Given the description of an element on the screen output the (x, y) to click on. 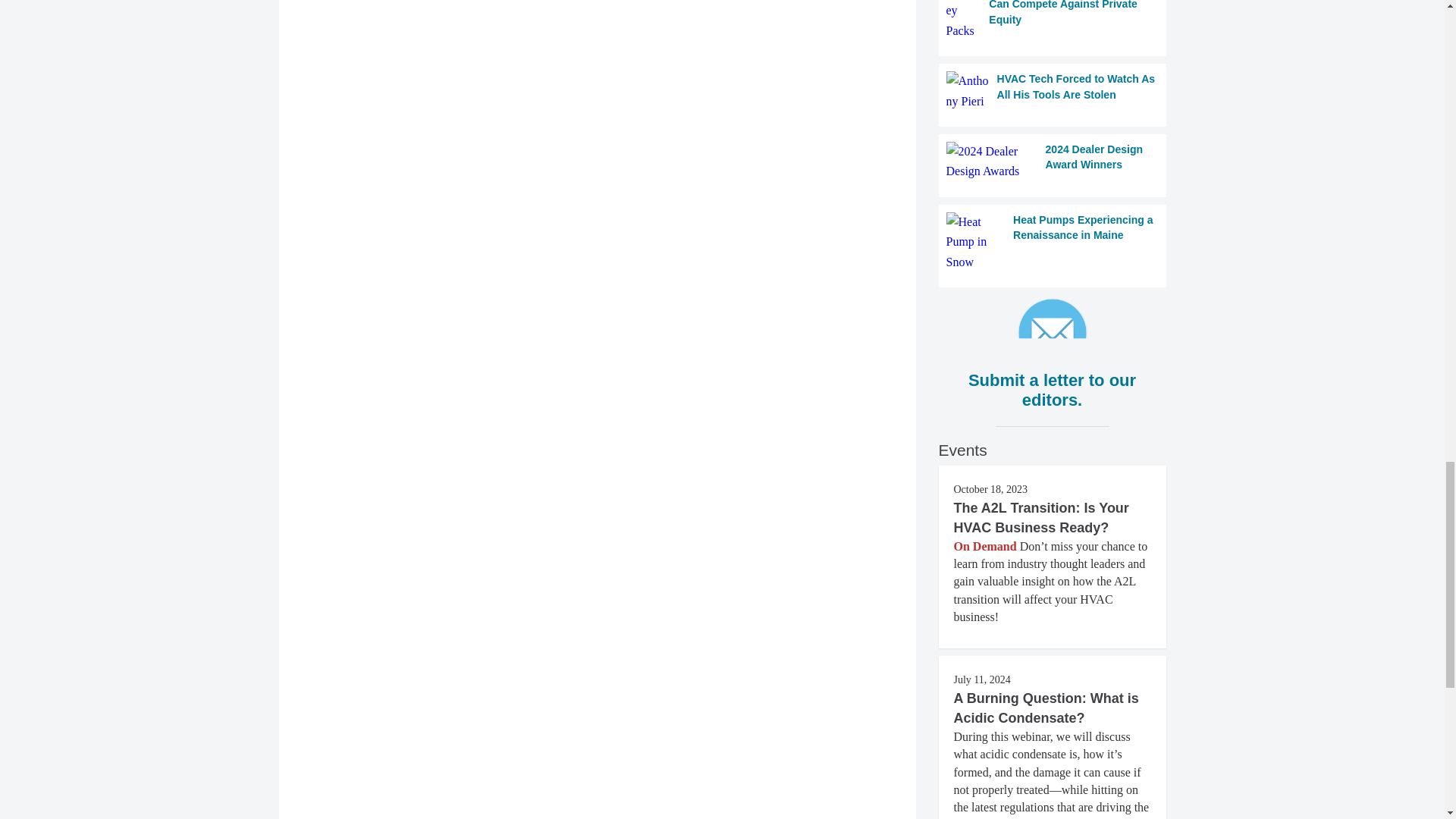
A Burning Question: What is Acidic Condensate? (1045, 708)
Heat Pumps Experiencing a Renaissance in Maine (1052, 241)
2024 Dealer Design Award Winners (1052, 161)
HVAC Tech Forced to Watch As All His Tools Are Stolen (1052, 91)
The A2L Transition: Is Your HVAC Business Ready? (1041, 517)
